Given the description of an element on the screen output the (x, y) to click on. 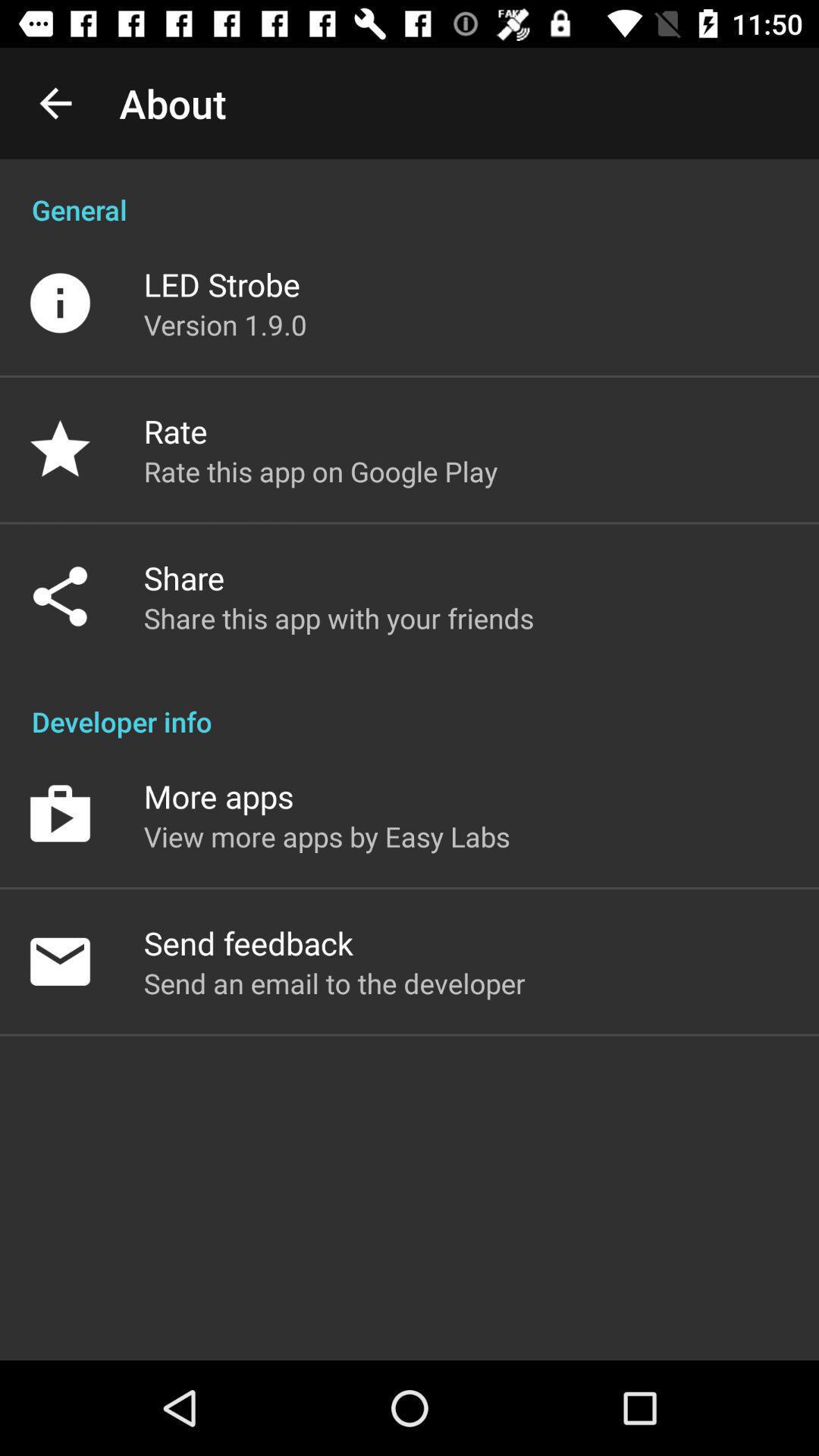
flip to led strobe (221, 283)
